Given the description of an element on the screen output the (x, y) to click on. 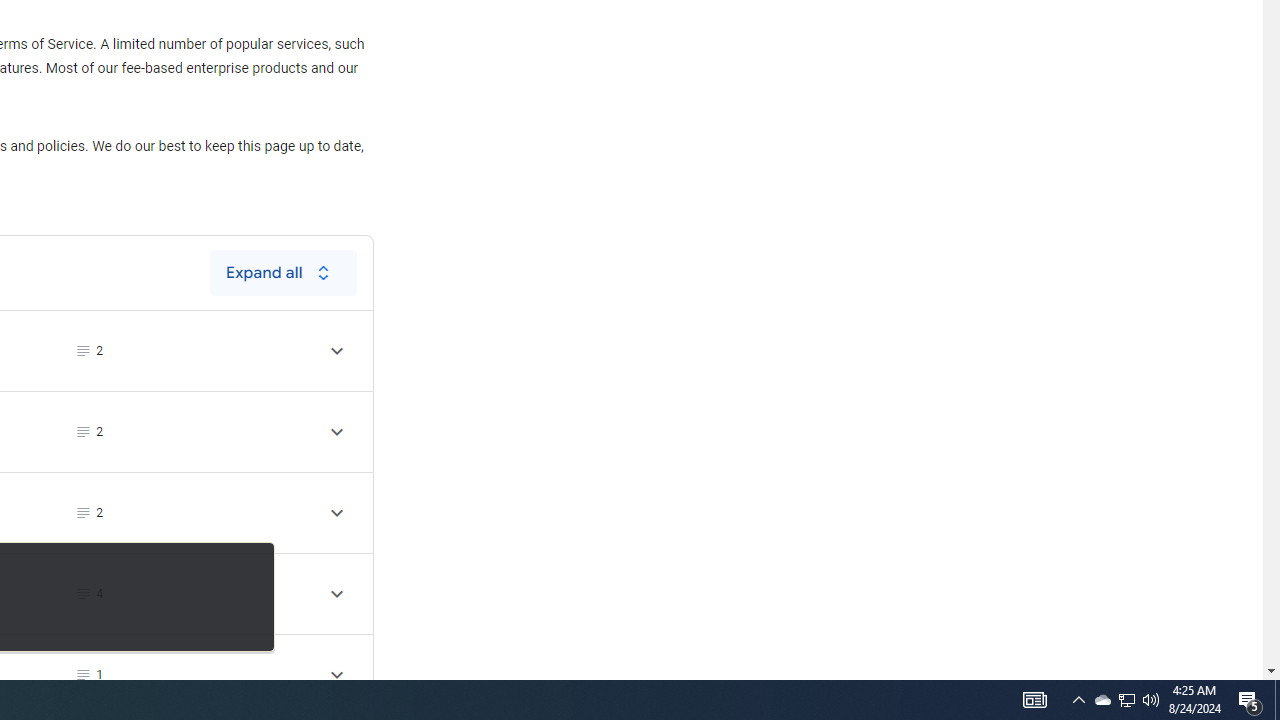
Expand all (283, 272)
